Given the description of an element on the screen output the (x, y) to click on. 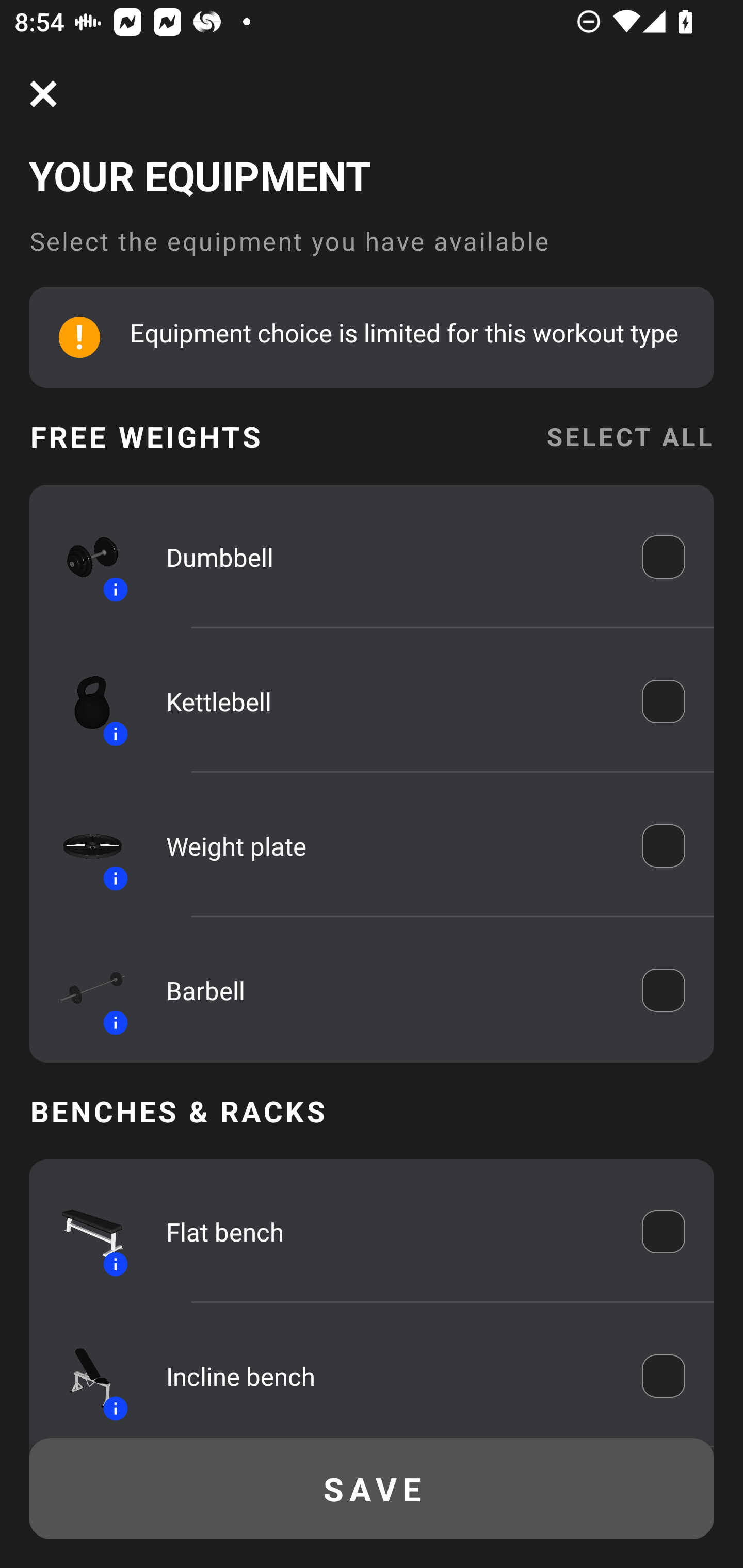
Navigation icon (43, 93)
SELECT ALL (629, 436)
Equipment icon Information icon (82, 557)
Dumbbell (389, 557)
Equipment icon Information icon (82, 701)
Kettlebell (389, 701)
Equipment icon Information icon (82, 845)
Weight plate (389, 845)
Equipment icon Information icon (82, 990)
Barbell (389, 990)
Equipment icon Information icon (82, 1231)
Flat bench (389, 1231)
Equipment icon Information icon (82, 1375)
Incline bench (389, 1375)
SAVE (371, 1488)
